Given the description of an element on the screen output the (x, y) to click on. 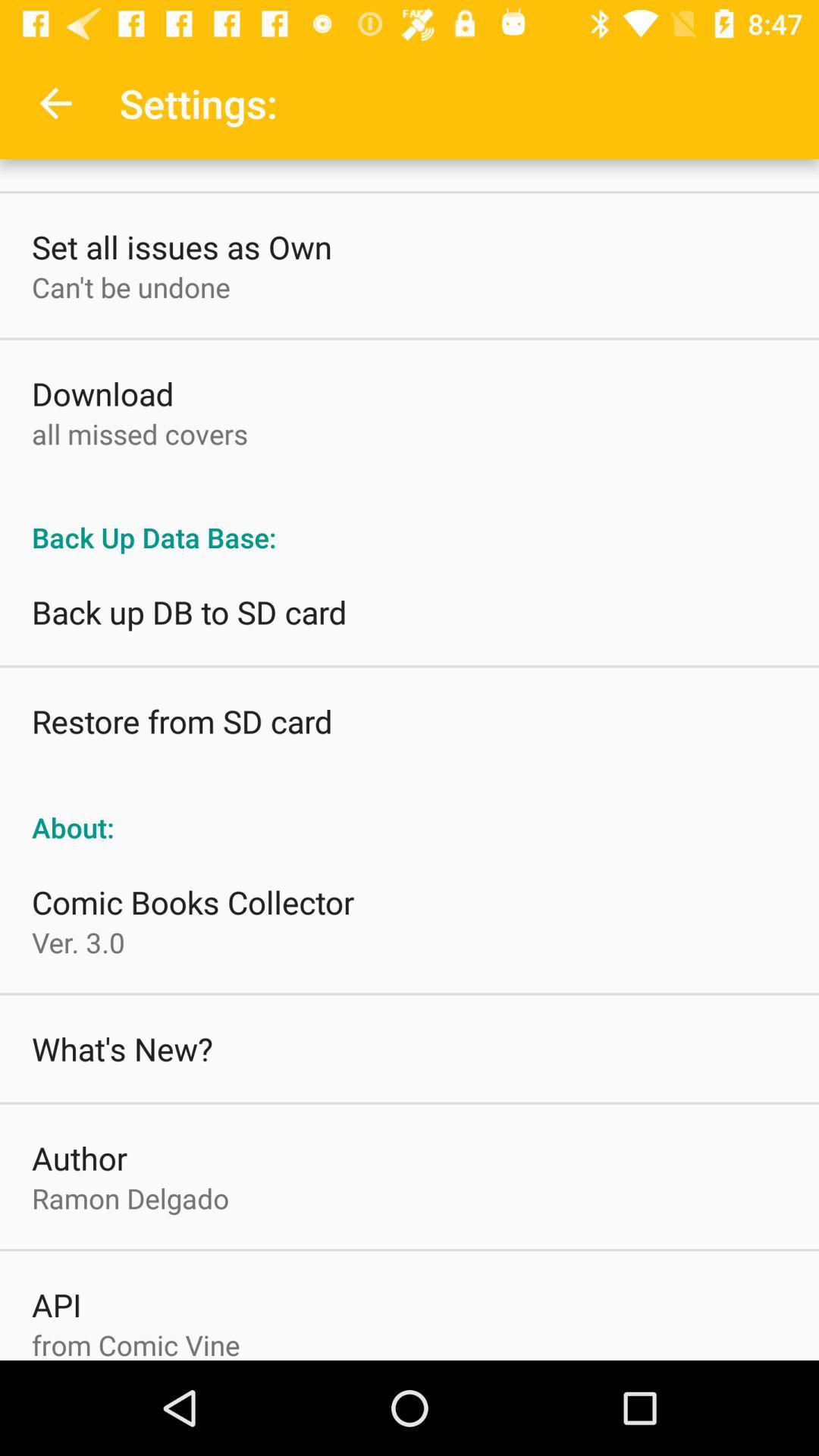
launch item below the restore from sd icon (409, 811)
